Given the description of an element on the screen output the (x, y) to click on. 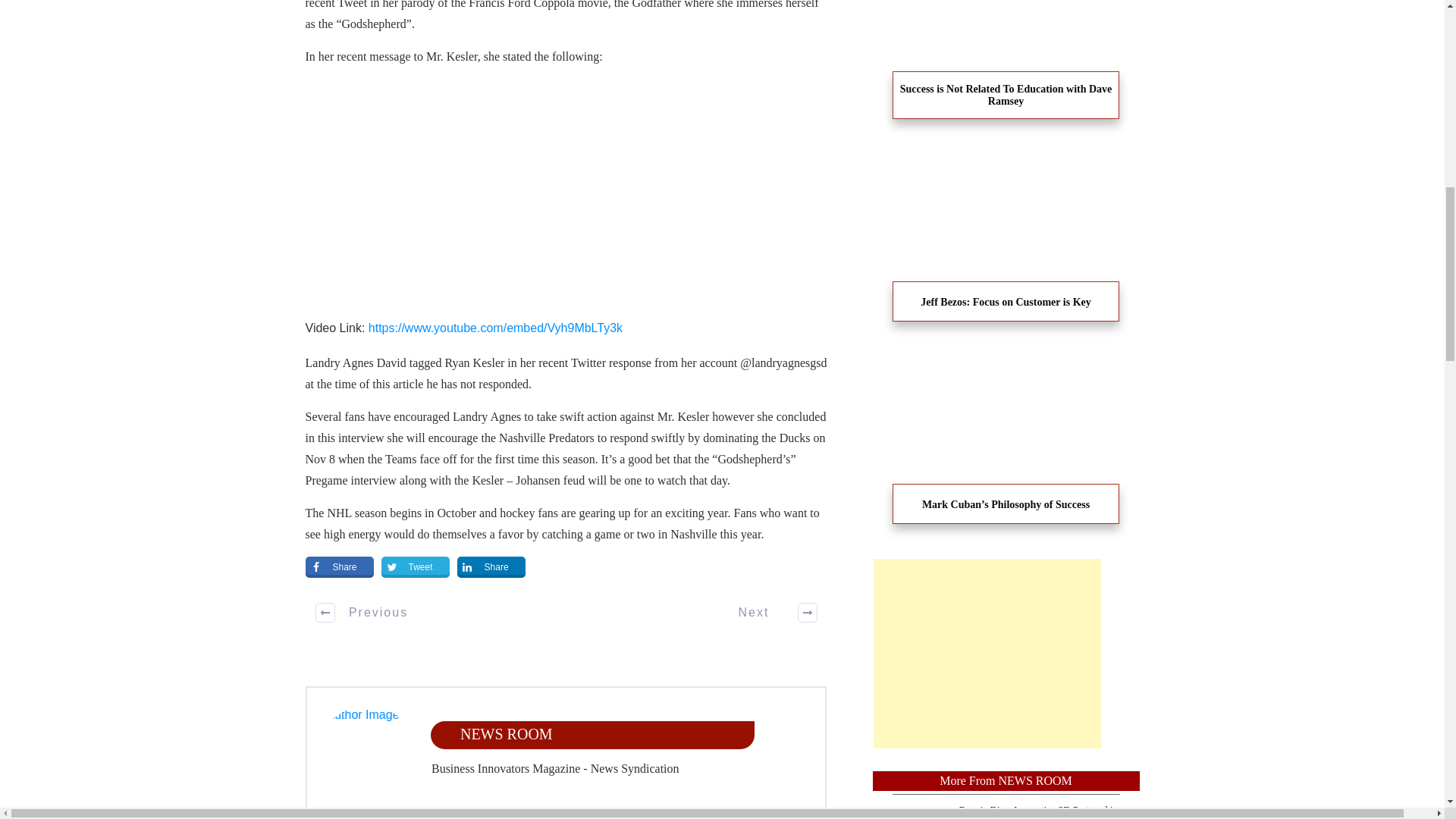
Tweet (415, 567)
Previous (362, 612)
Success is Not Related To Education with Dave Ramsey (1005, 95)
Share (491, 567)
Success is Not Related To Education with Dave Ramsey (1005, 95)
Success is Not Related To Education with Dave Ramsey (1005, 68)
Jeff Bezos: Focus on Customer is Key (1005, 246)
Jeff Bezos: Focus on Customer is Key (1005, 301)
Jeff Bezos: Focus on Customer is Key (1005, 301)
Share (338, 567)
Next (770, 612)
